Given the description of an element on the screen output the (x, y) to click on. 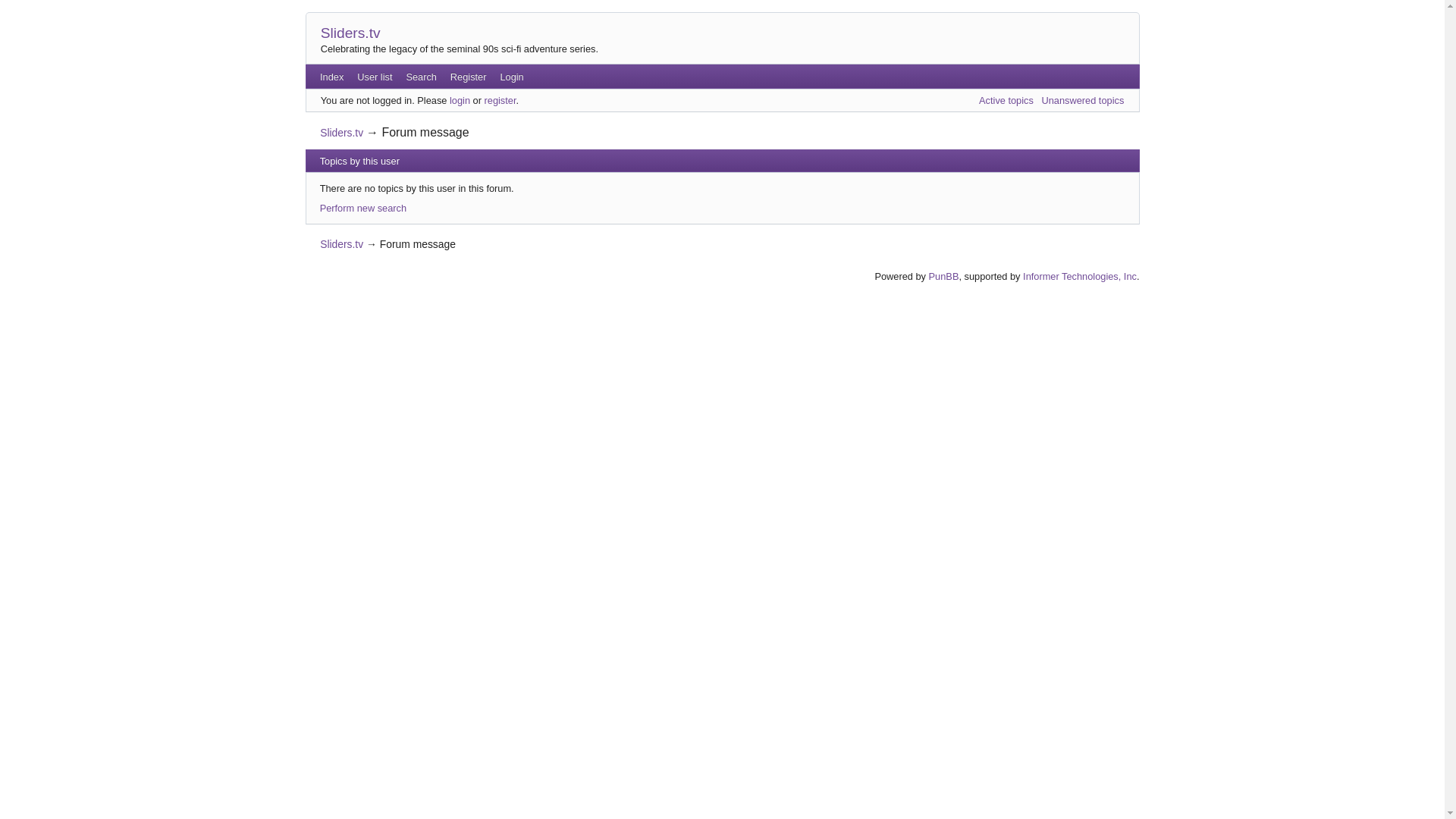
Sliders.tv (341, 244)
Index (331, 76)
login (459, 100)
Search (420, 76)
Login (511, 76)
register (500, 100)
Informer Technologies, Inc (1080, 276)
Active topics (1005, 100)
PunBB (943, 276)
User list (374, 76)
